Given the description of an element on the screen output the (x, y) to click on. 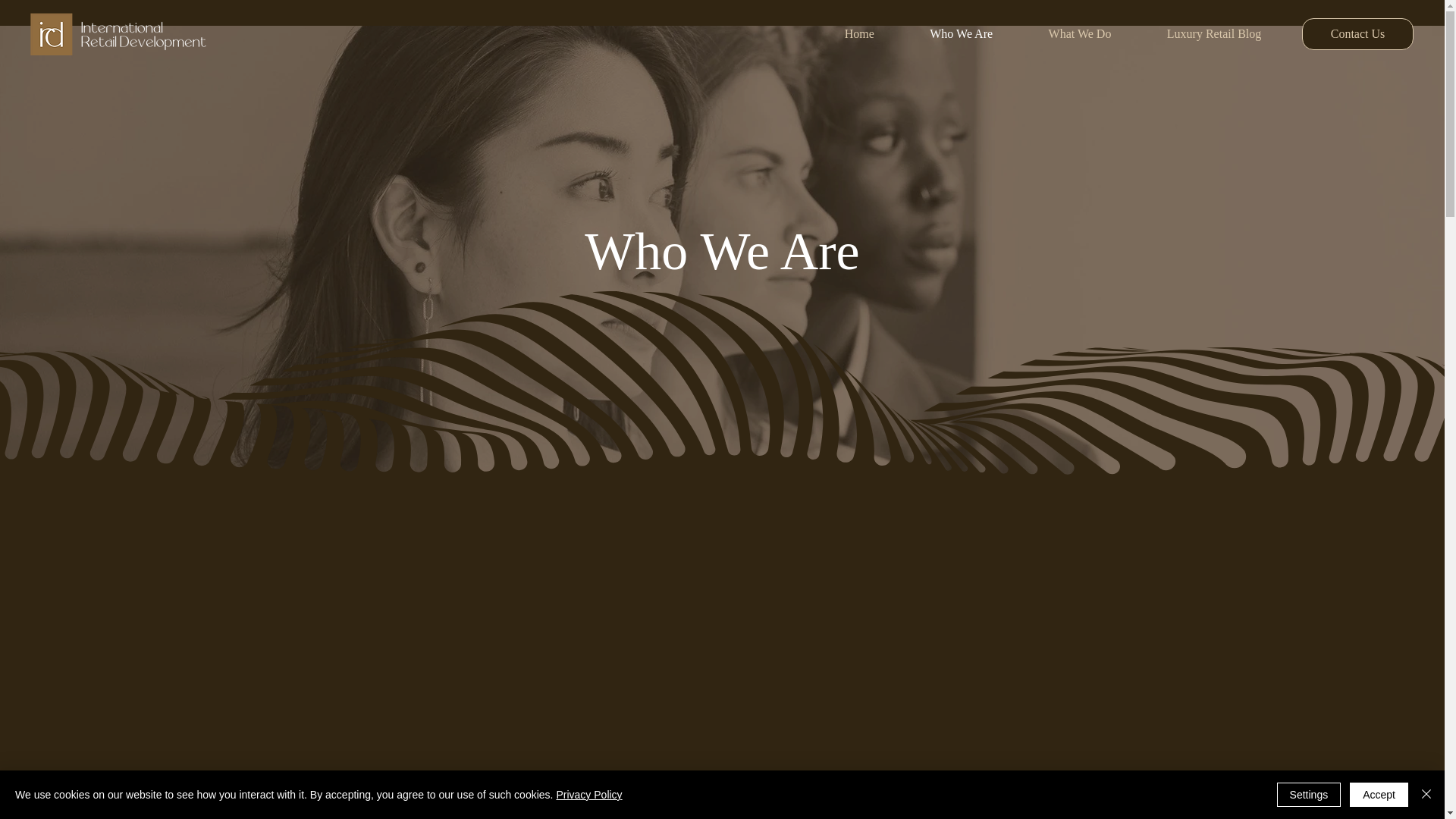
Accept (1378, 794)
Privacy Policy (588, 794)
What We Do (1079, 33)
Contact Us (1357, 33)
Settings (1308, 794)
Who We Are (961, 33)
Home (859, 33)
Luxury Retail Blog (1213, 33)
